Given the description of an element on the screen output the (x, y) to click on. 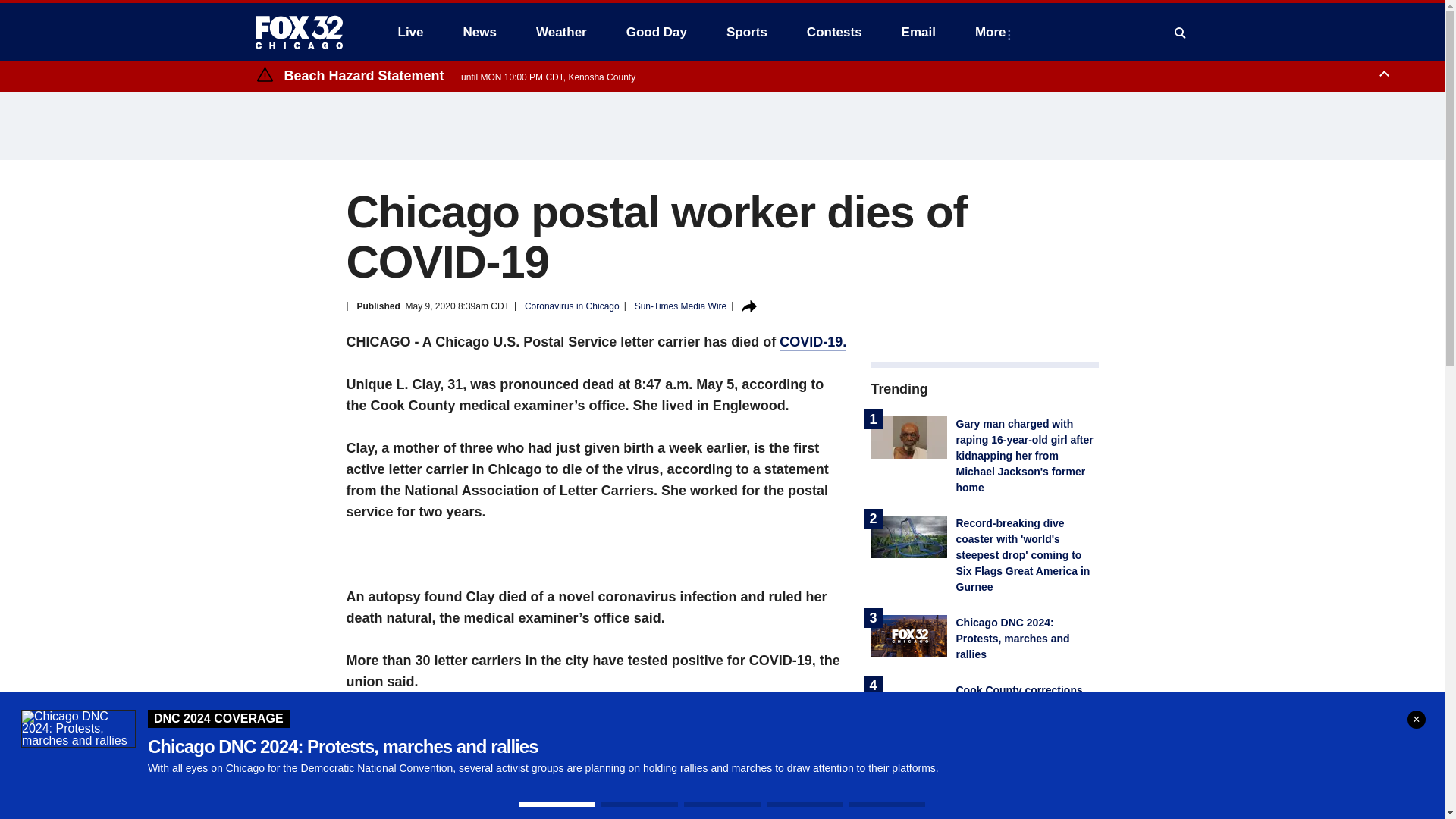
Live (410, 32)
Sports (746, 32)
Weather (561, 32)
Good Day (656, 32)
Email (918, 32)
More (993, 32)
News (479, 32)
Contests (834, 32)
